Given the description of an element on the screen output the (x, y) to click on. 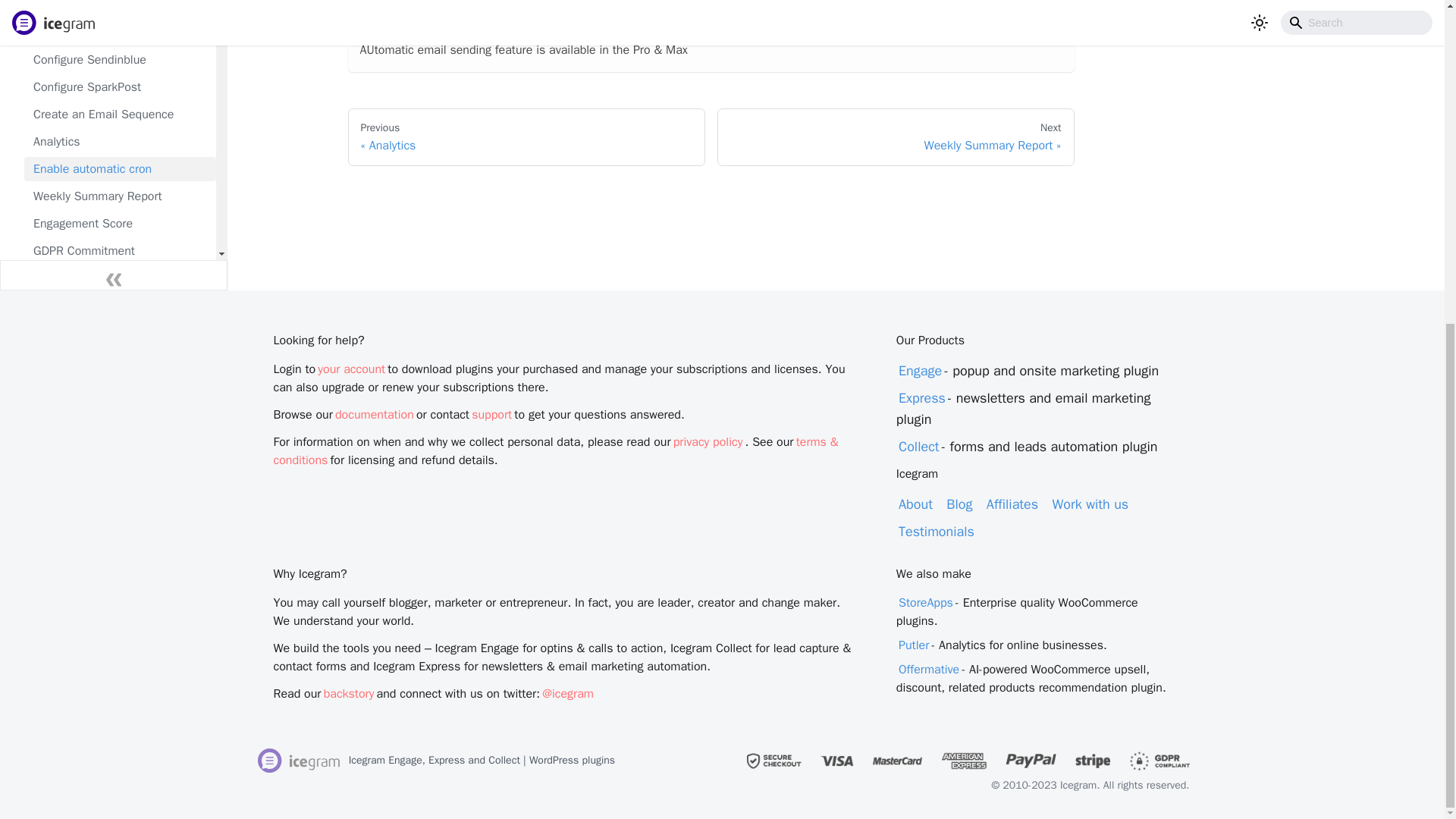
Create an Email Sequence (119, 114)
Configure SparkPost (119, 87)
Collapse sidebar (113, 275)
Configure Postmark (119, 8)
Configure Sendinblue (119, 59)
Weekly Summary Report (119, 196)
Configure SendGrid (119, 32)
Enable automatic cron (119, 168)
Analytics (119, 141)
Engagement Score (119, 223)
Handle Bounced Email (119, 278)
GDPR Commitment (119, 250)
